Given the description of an element on the screen output the (x, y) to click on. 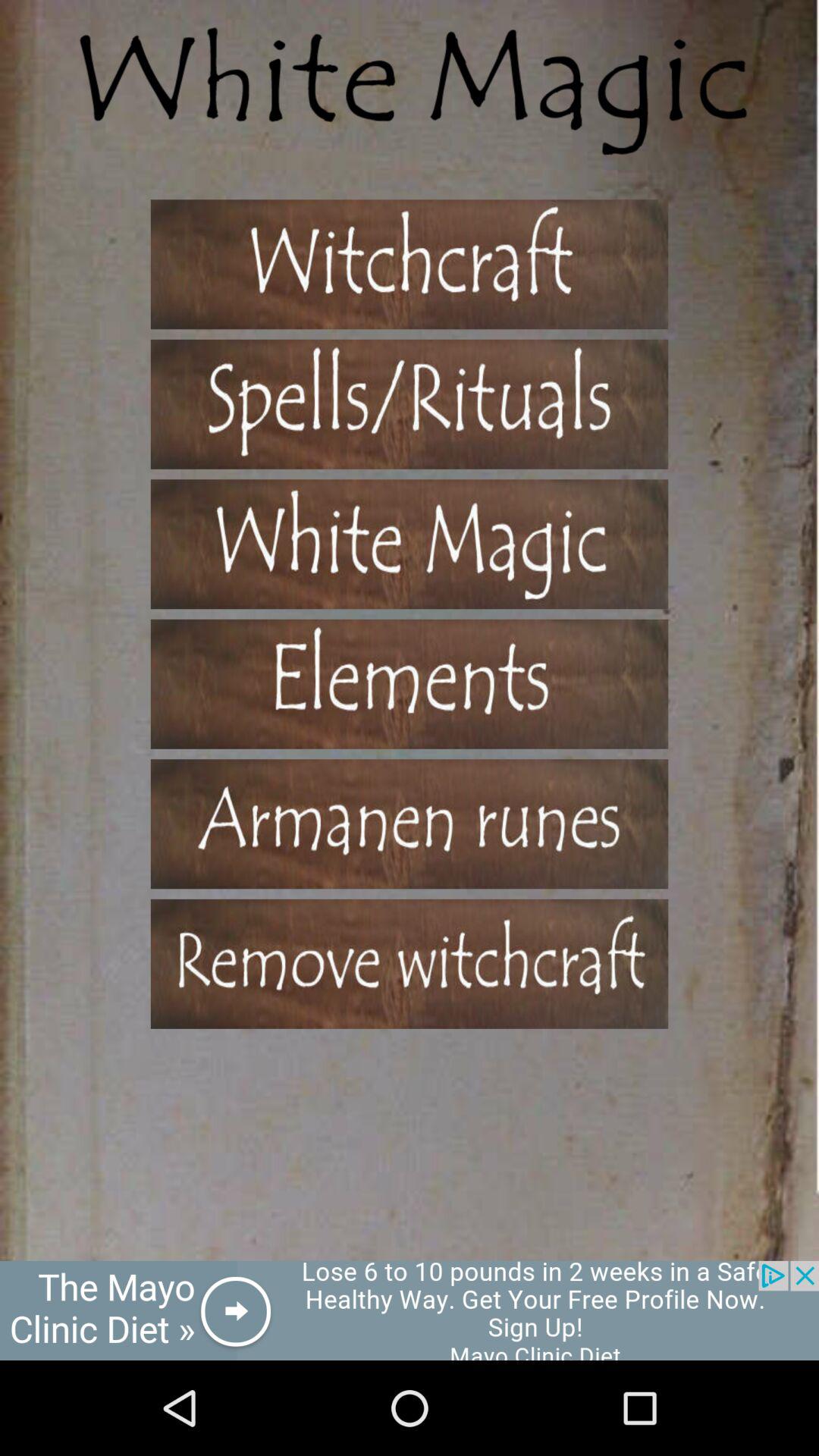
show a list of elements (409, 684)
